Given the description of an element on the screen output the (x, y) to click on. 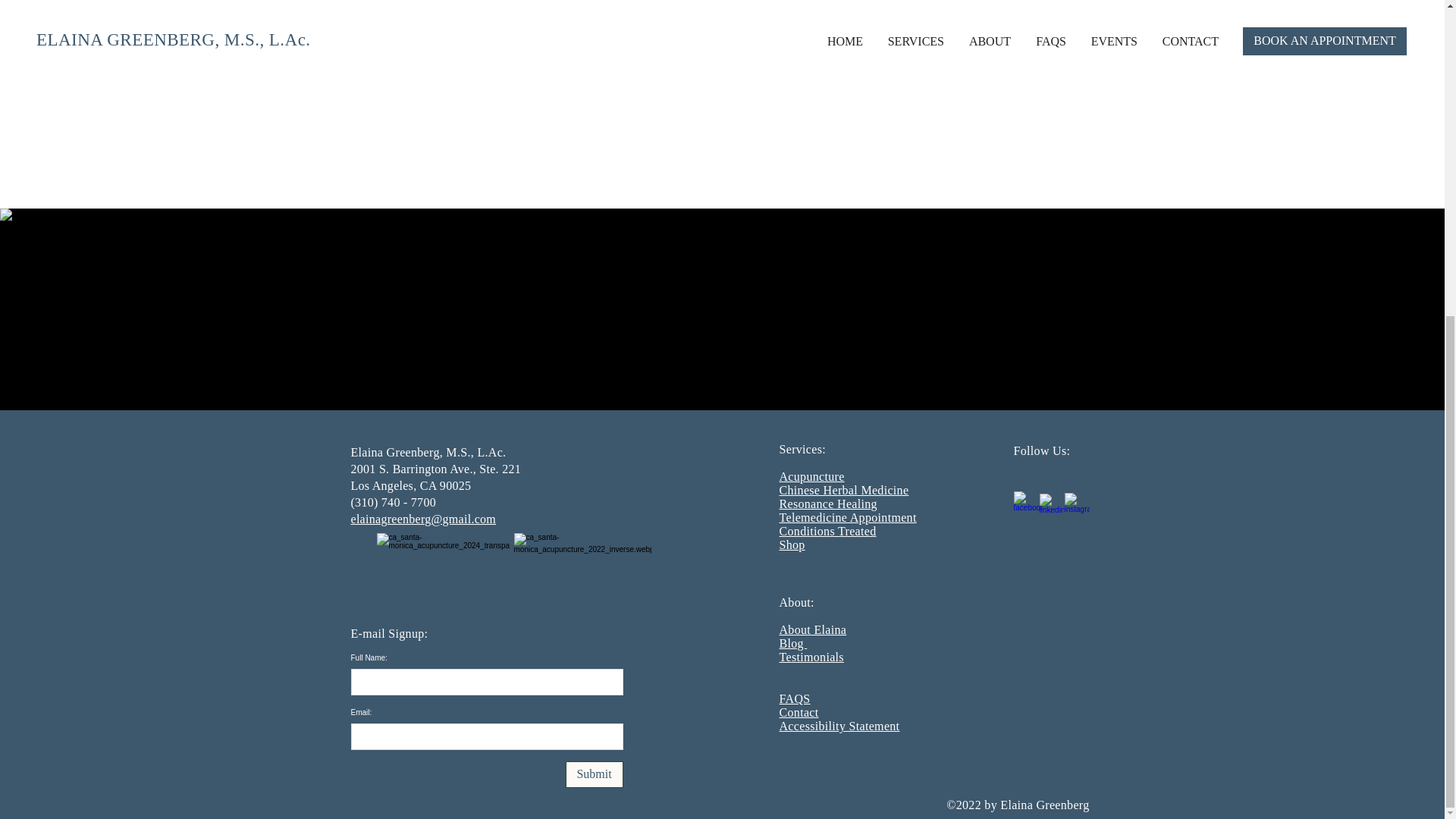
Resonance Healing (827, 503)
Acupuncture (811, 476)
Submit (594, 774)
FAQS (794, 698)
Blog  (793, 643)
About Elaina (812, 629)
Testimonials (811, 656)
Telemedicine Appointment (847, 517)
Shop (791, 544)
Accessibility Statement (838, 725)
Contact (798, 712)
Conditions Treated (827, 530)
Chinese Herbal Medicine (843, 490)
